Given the description of an element on the screen output the (x, y) to click on. 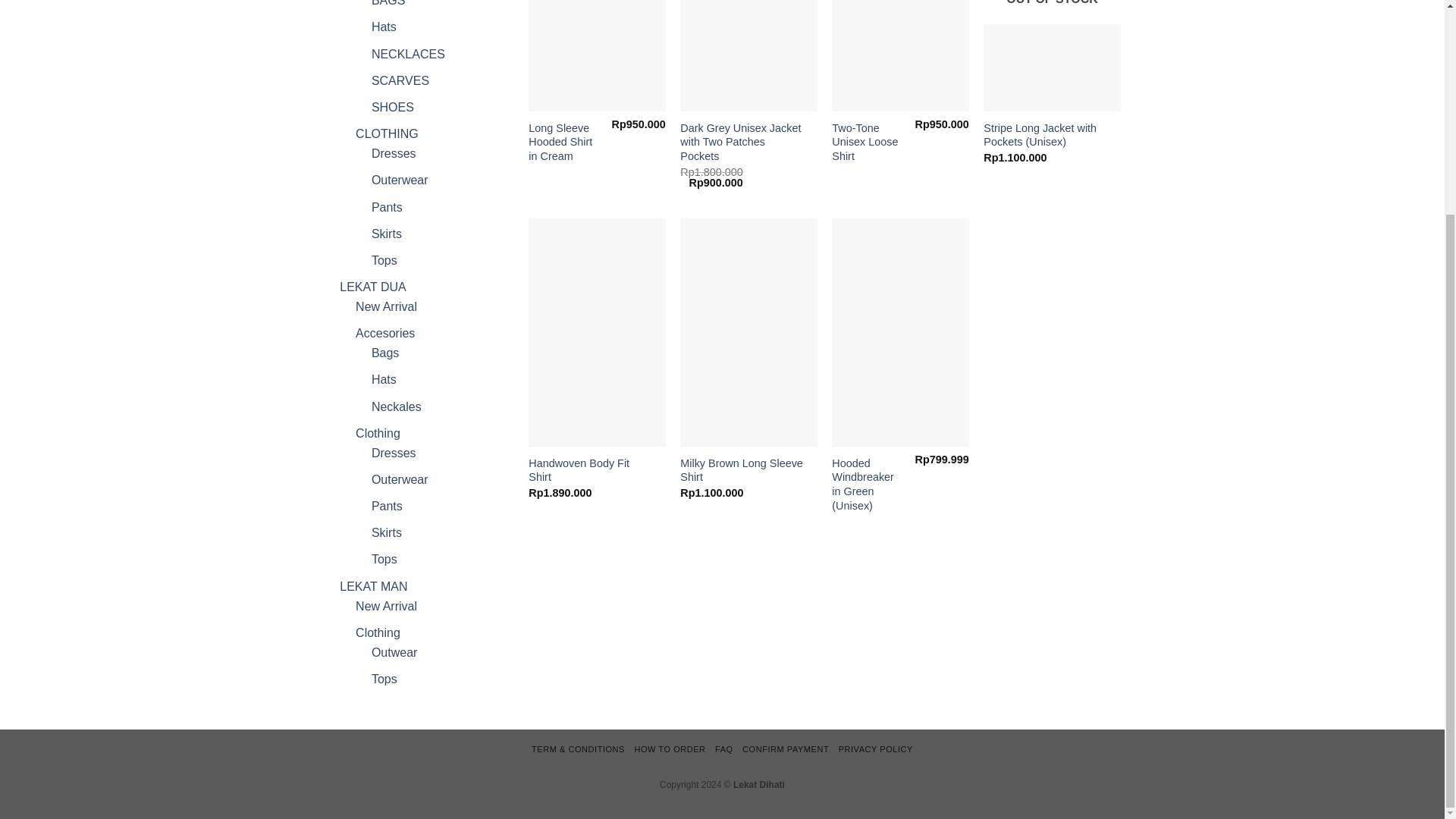
SHOES (392, 106)
Hats (383, 26)
Pants (387, 206)
Outerwear (399, 179)
NECKLACES (408, 53)
Dresses (393, 153)
BAGS (387, 3)
SCARVES (400, 80)
CLOTHING (387, 133)
Skirts (386, 233)
